Given the description of an element on the screen output the (x, y) to click on. 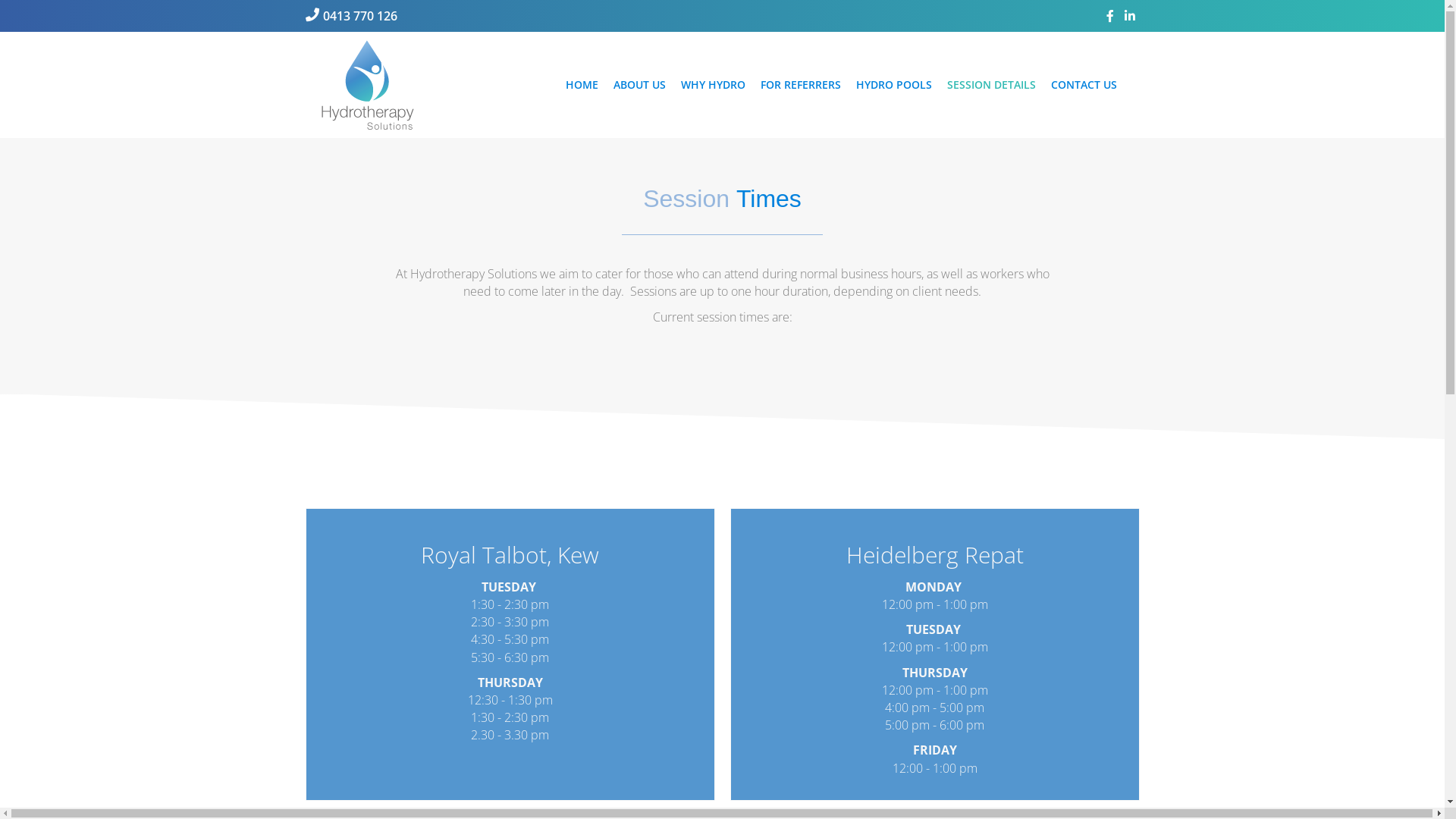
ABOUT US Element type: text (638, 84)
WHY HYDRO Element type: text (713, 84)
hs_logo_120px_ai Element type: hover (366, 84)
HYDRO POOLS Element type: text (892, 84)
CONTACT US Element type: text (1083, 84)
SESSION DETAILS Element type: text (990, 84)
FOR REFERRERS Element type: text (799, 84)
HOME Element type: text (581, 84)
